Given the description of an element on the screen output the (x, y) to click on. 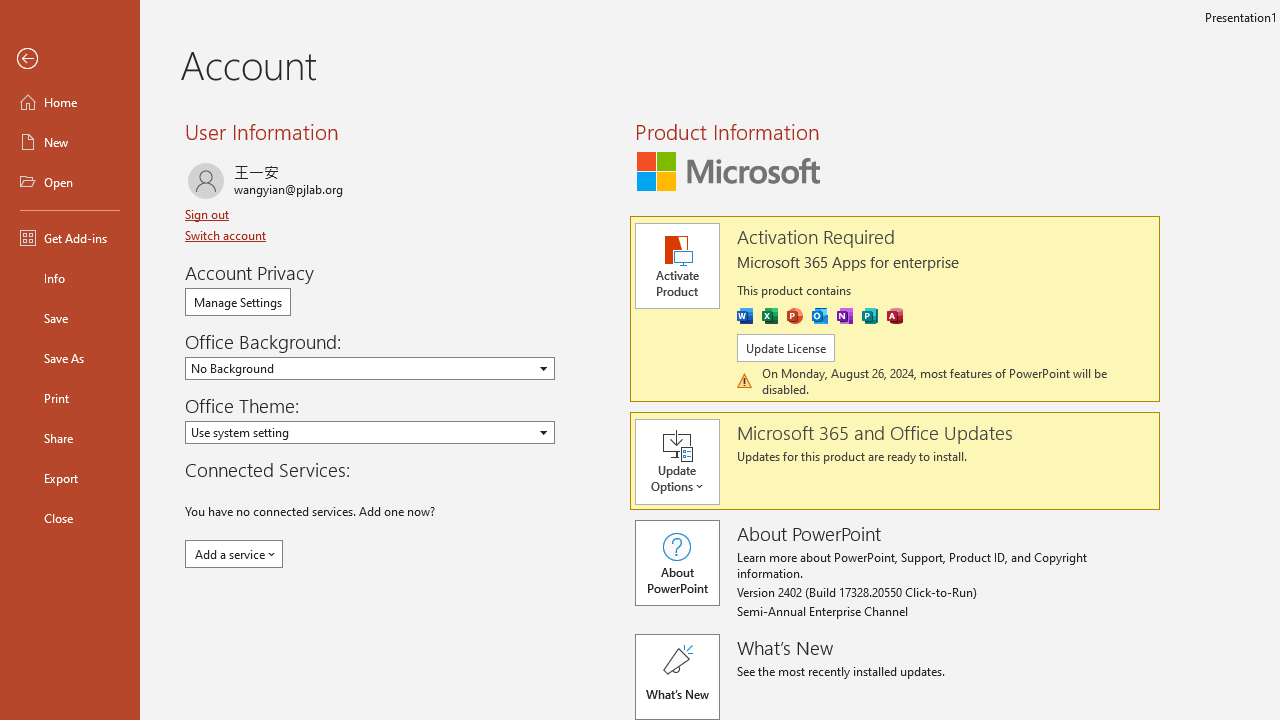
Open (545, 431)
Open (69, 182)
Save As (69, 357)
Activate Product (676, 265)
PowerPoint (794, 316)
Publisher (869, 316)
Sign out (208, 214)
Update License (785, 348)
Switch account (227, 235)
